Given the description of an element on the screen output the (x, y) to click on. 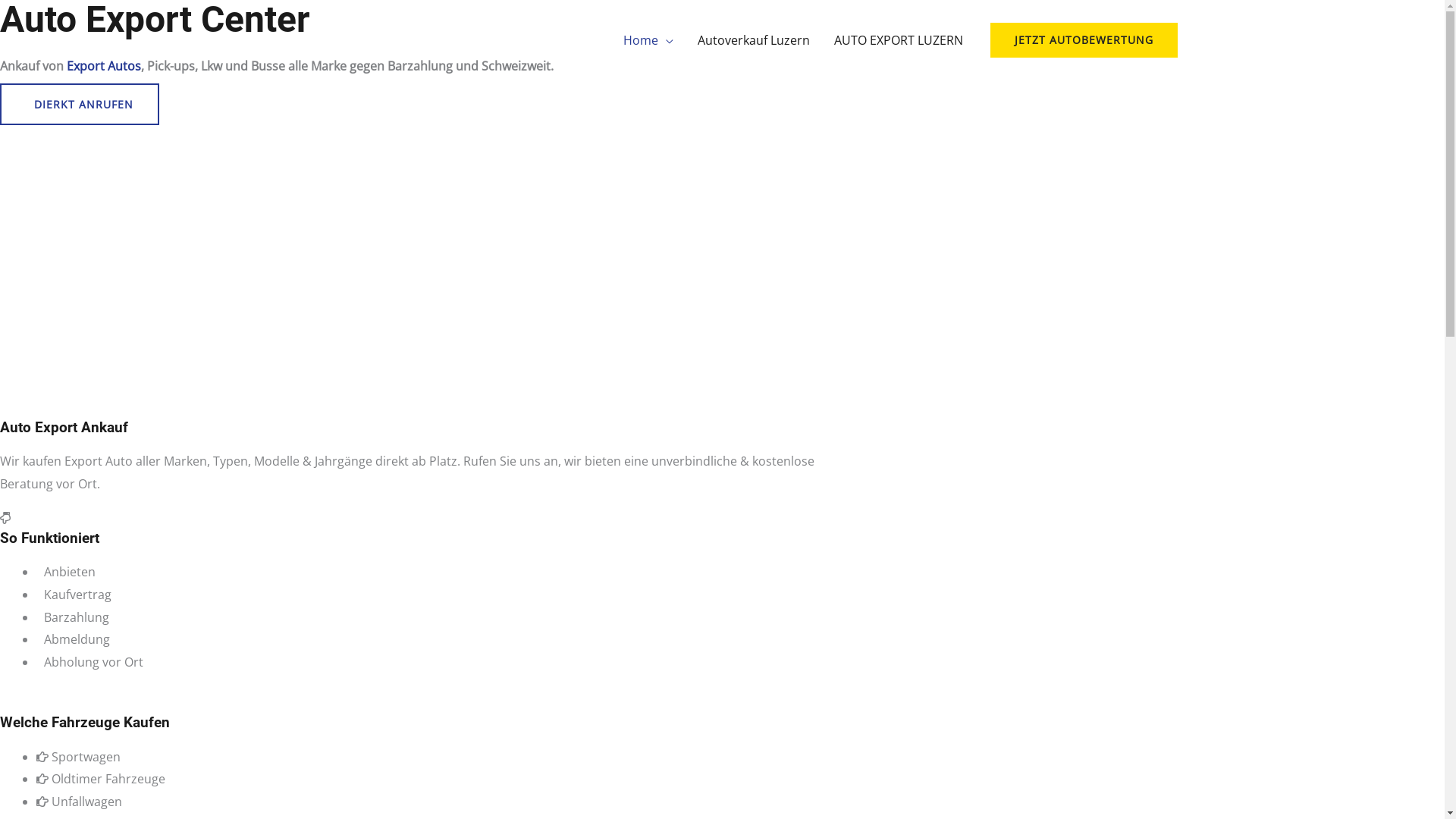
JETZT AUTOBEWERTUNG Element type: text (1083, 39)
Autoverkauf Luzern Element type: text (753, 39)
Home Element type: text (650, 39)
DIERKT ANRUFEN Element type: text (75, 104)
AUTO EXPORT LUZERN Element type: text (898, 39)
Export Autos Element type: text (103, 65)
